Given the description of an element on the screen output the (x, y) to click on. 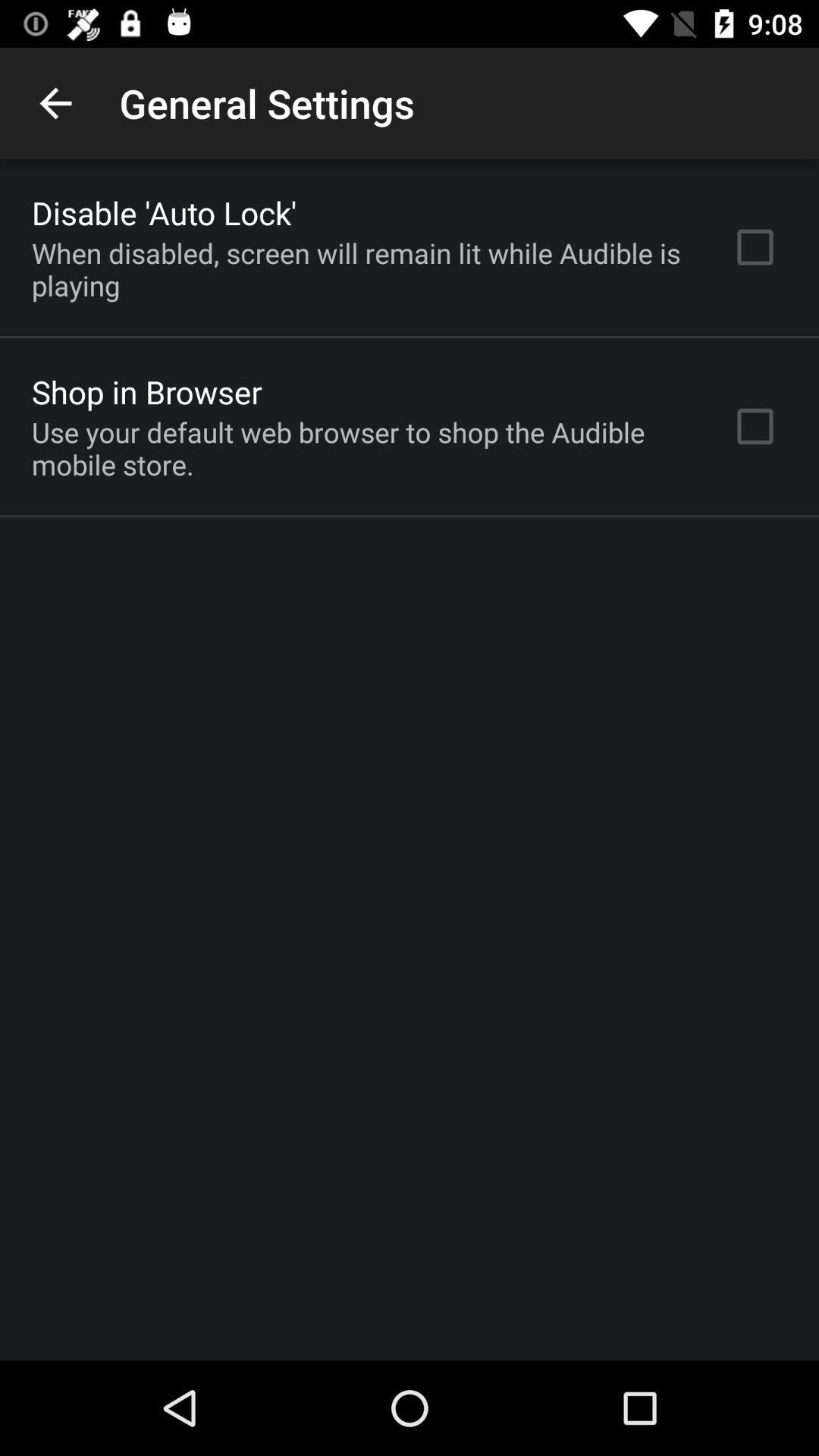
launch the app to the left of the general settings app (55, 103)
